Given the description of an element on the screen output the (x, y) to click on. 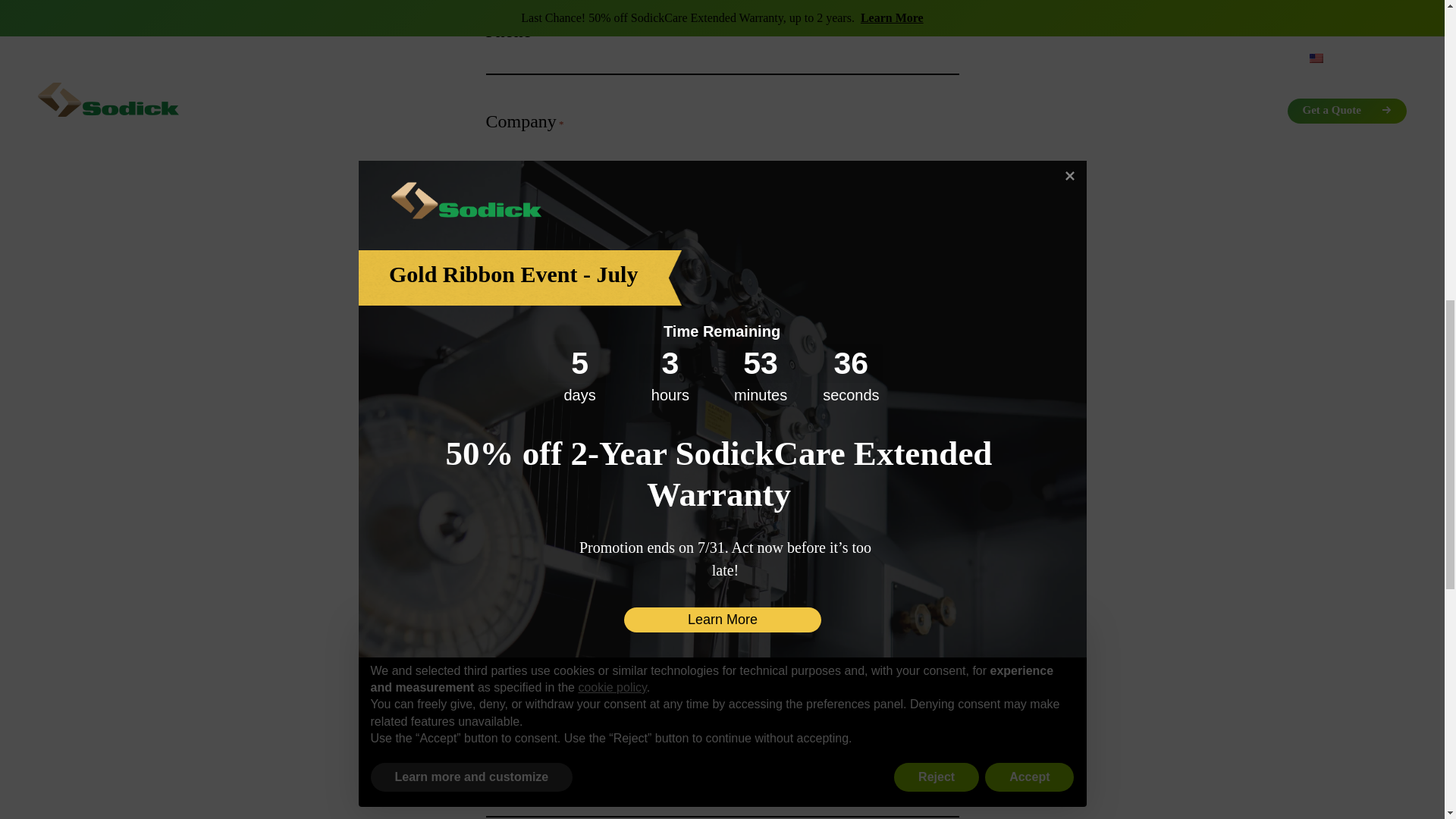
Wire EDM (495, 675)
Sinker EDM (495, 696)
Other (495, 717)
